Given the description of an element on the screen output the (x, y) to click on. 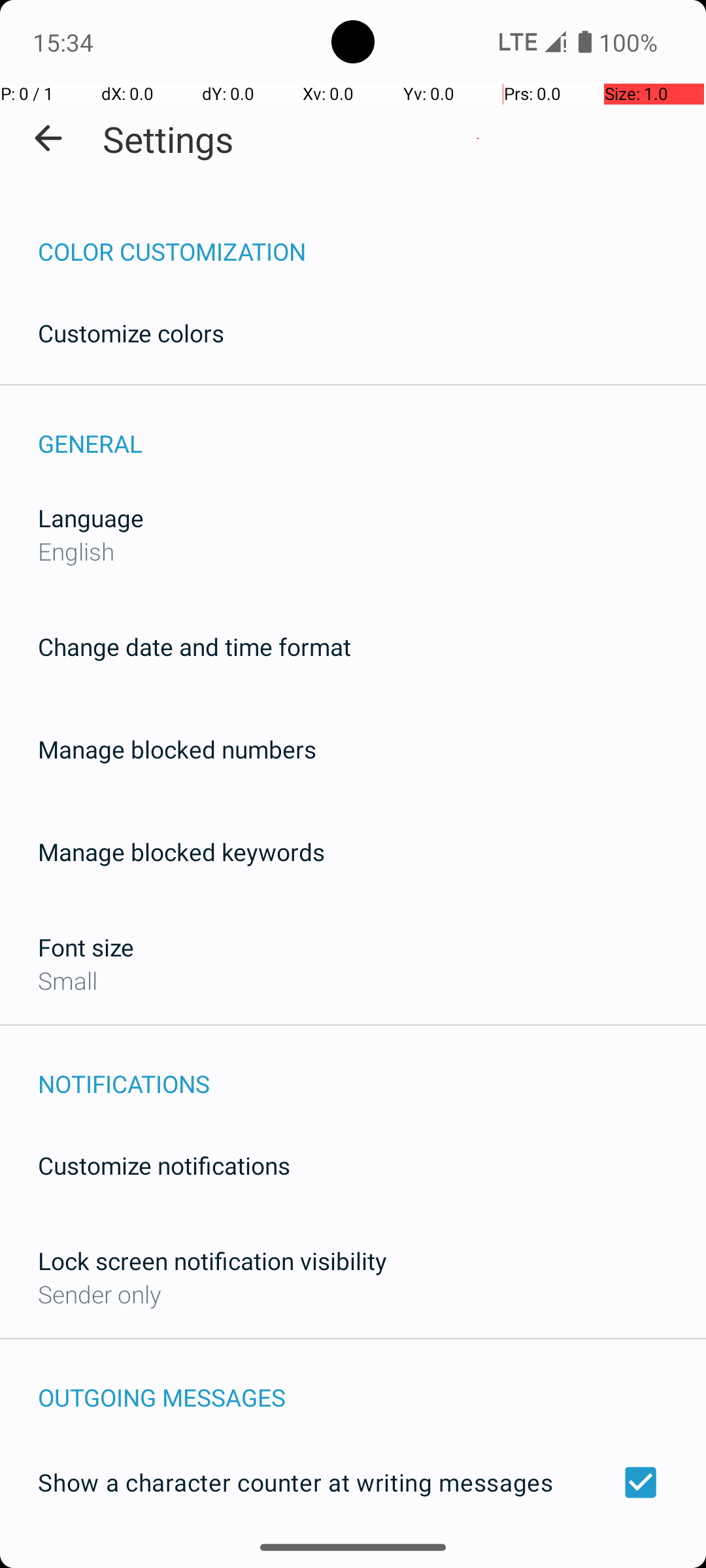
NOTIFICATIONS Element type: android.widget.TextView (371, 1069)
OUTGOING MESSAGES Element type: android.widget.TextView (371, 1383)
Change date and time format Element type: android.widget.TextView (194, 646)
Manage blocked numbers Element type: android.widget.TextView (176, 748)
Manage blocked keywords Element type: android.widget.TextView (180, 851)
Font size Element type: android.widget.TextView (85, 946)
Small Element type: android.widget.TextView (67, 979)
Lock screen notification visibility Element type: android.widget.TextView (211, 1260)
Sender only Element type: android.widget.TextView (99, 1293)
Show a character counter at writing messages Element type: android.widget.CheckBox (352, 1482)
Remove accents and diacritics at sending messages Element type: android.widget.CheckBox (352, 1559)
